Given the description of an element on the screen output the (x, y) to click on. 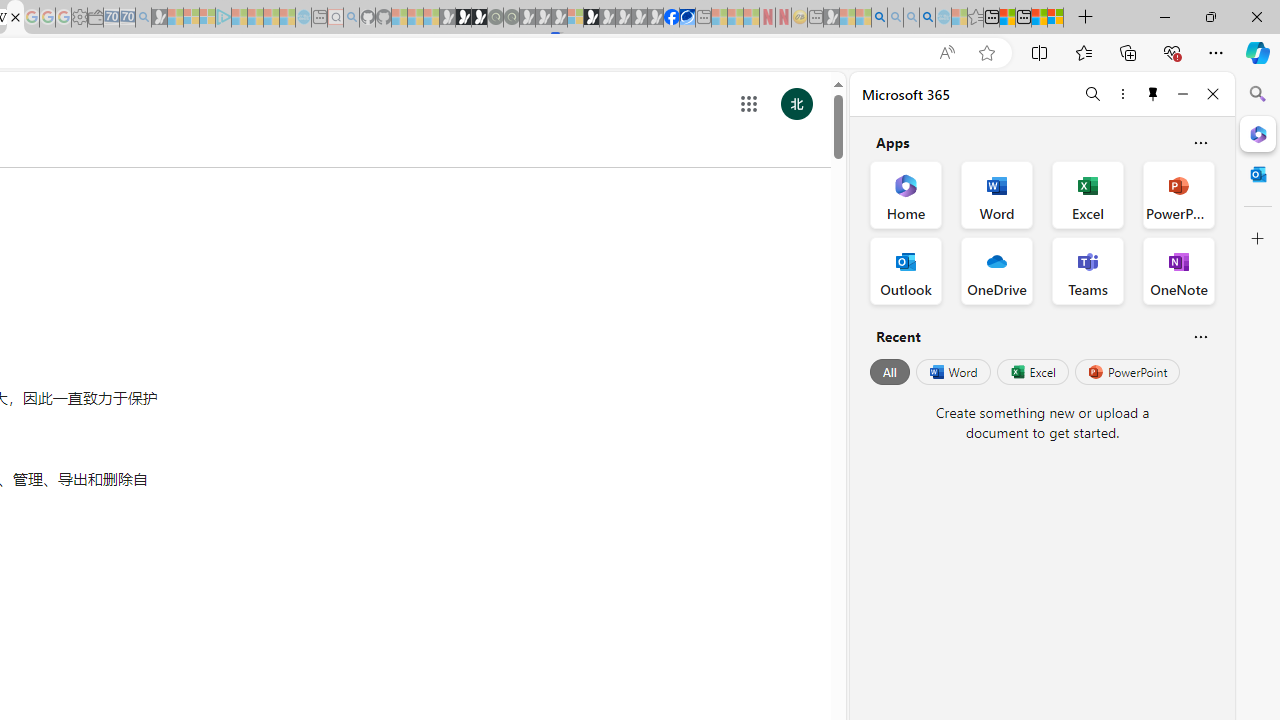
Google Chrome Internet Browser Download - Search Images (927, 17)
PowerPoint Office App (1178, 194)
Home Office App (906, 194)
Close Microsoft 365 pane (1258, 133)
Nordace | Facebook (671, 17)
